Given the description of an element on the screen output the (x, y) to click on. 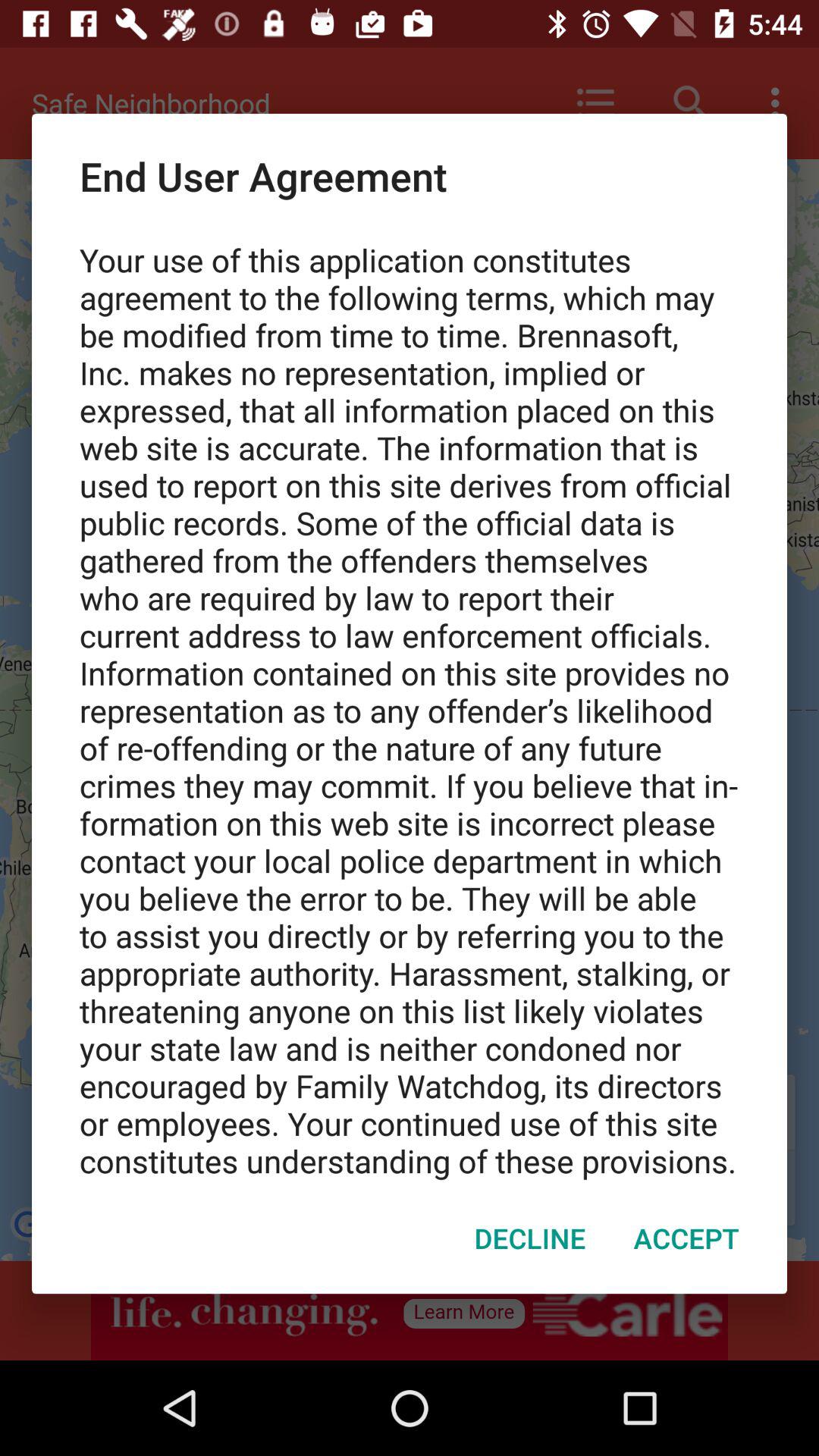
press the item to the right of the decline item (686, 1237)
